Given the description of an element on the screen output the (x, y) to click on. 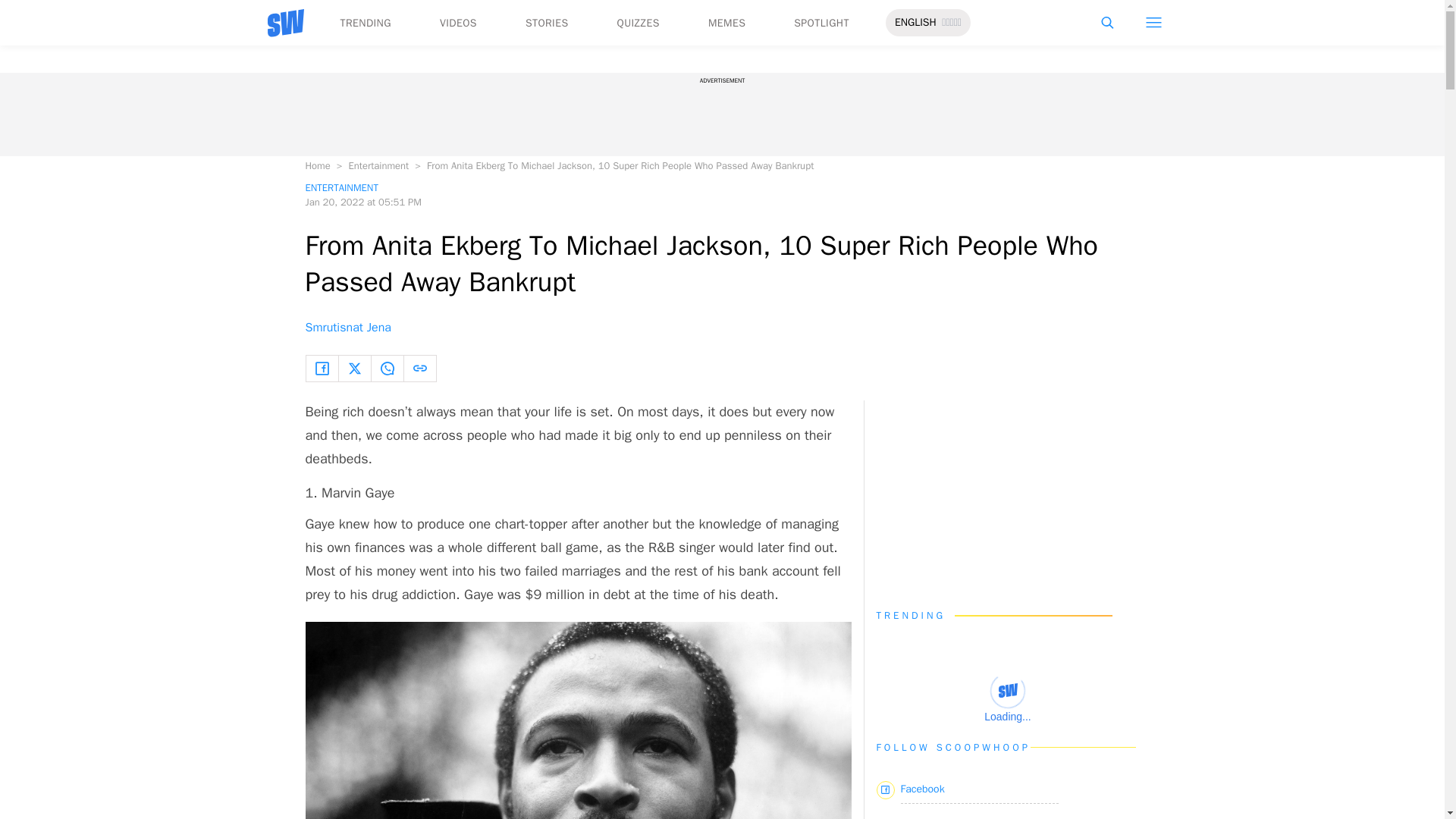
MEMES (726, 22)
QUIZZES (638, 22)
TRENDING (364, 22)
ENGLISH (915, 22)
SPOTLIGHT (820, 22)
STORIES (547, 22)
VIDEOS (458, 22)
